Given the description of an element on the screen output the (x, y) to click on. 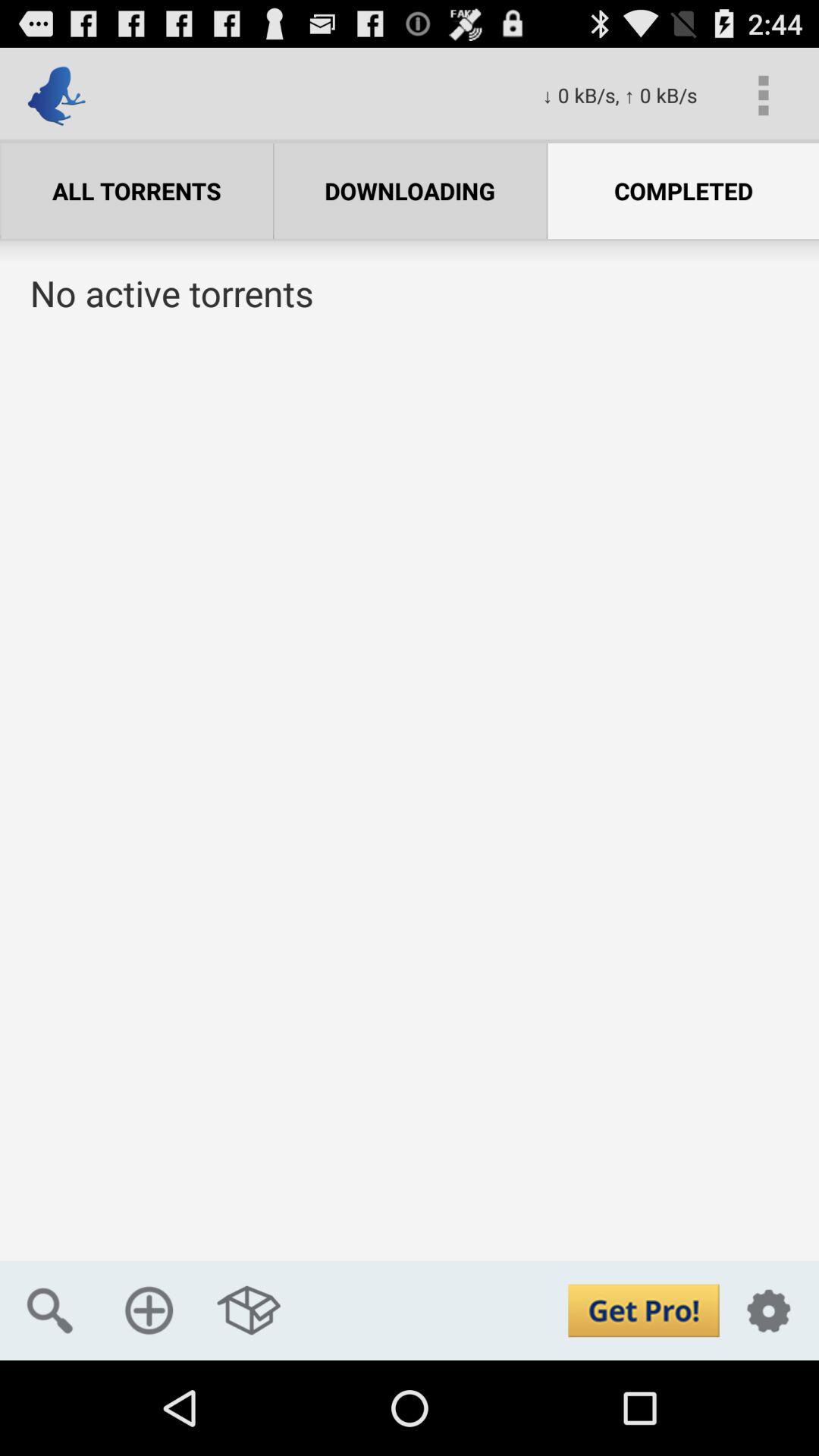
view completed torrents (409, 803)
